Given the description of an element on the screen output the (x, y) to click on. 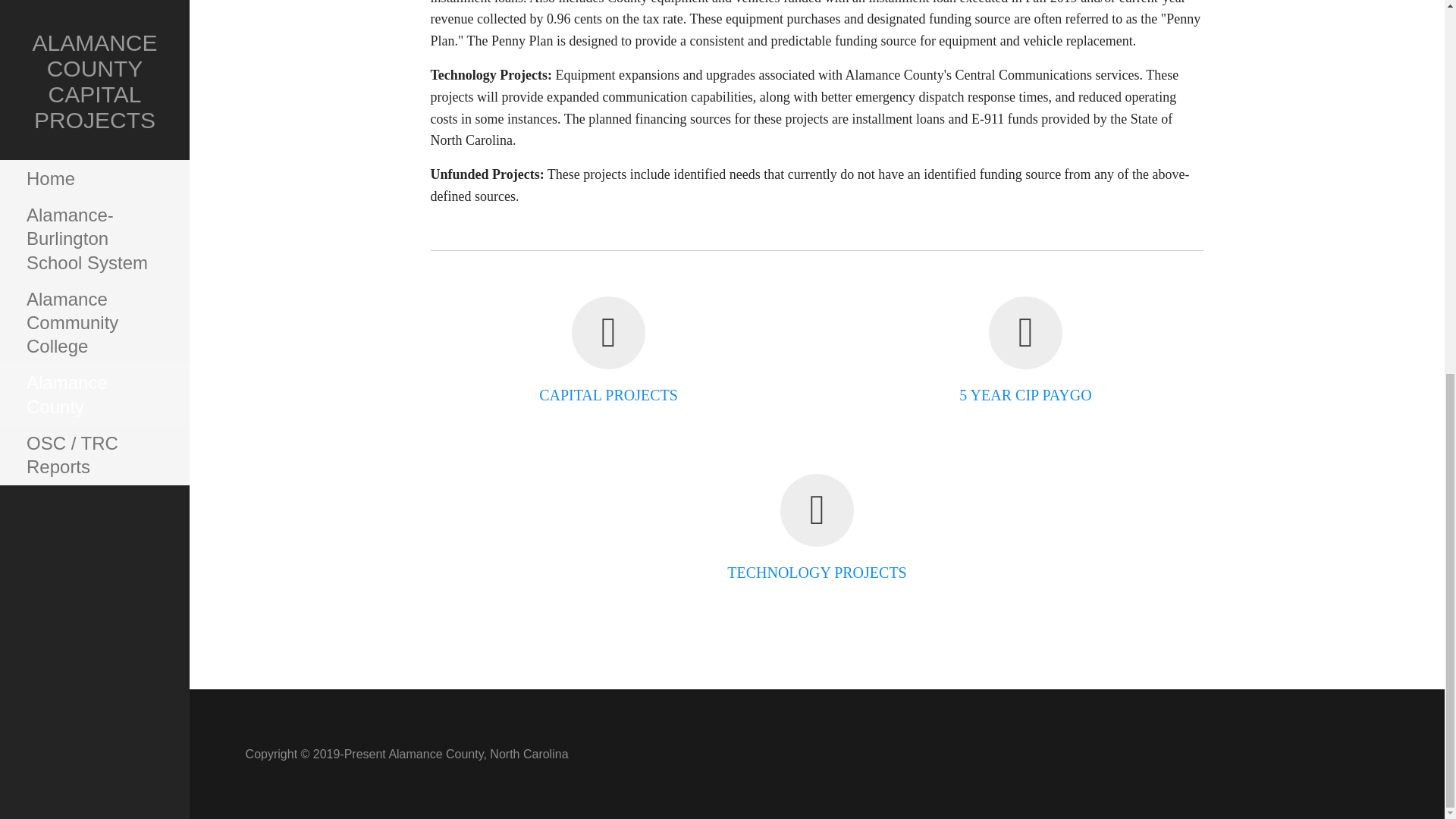
TECHNOLOGY PROJECTS (816, 572)
5 YEAR CIP PAYGO (1024, 394)
CAPITAL PROJECTS (608, 394)
